Given the description of an element on the screen output the (x, y) to click on. 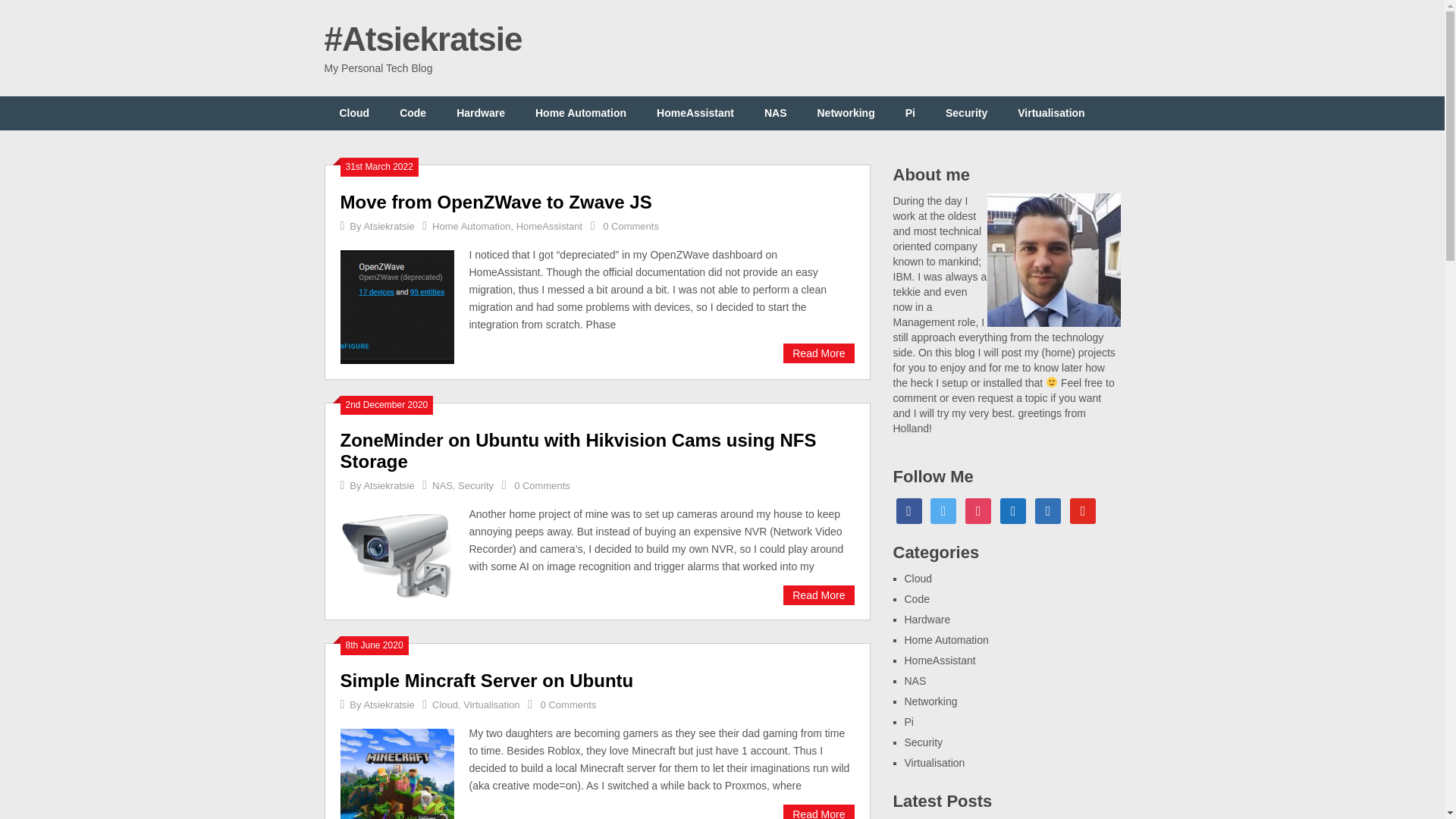
Move from OpenZWave to Zwave JS (818, 353)
Simple Mincraft Server on Ubuntu (818, 811)
NAS (442, 485)
HomeAssistant (549, 225)
Pi (909, 113)
Atsiekratsie (387, 704)
Cloud (354, 113)
Posts by Atsiekratsie (387, 225)
Security (475, 485)
ZoneMinder on Ubuntu with Hikvision Cams using NFS Storage (395, 554)
Atsiekratsie (387, 485)
HomeAssistant (695, 113)
Home Automation (471, 225)
Read More (818, 811)
Home Automation (580, 113)
